Given the description of an element on the screen output the (x, y) to click on. 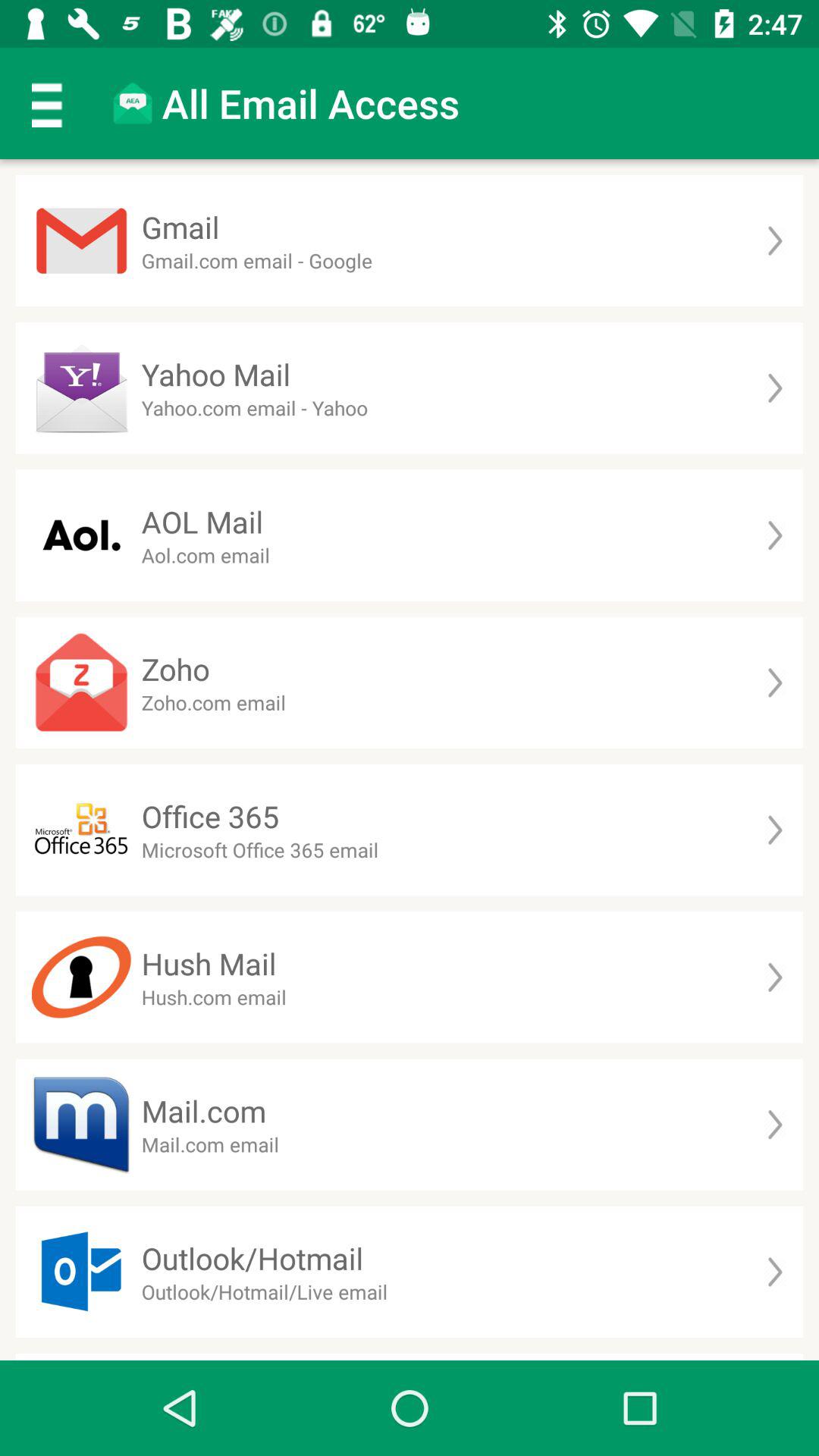
swipe until hush mail (208, 963)
